Given the description of an element on the screen output the (x, y) to click on. 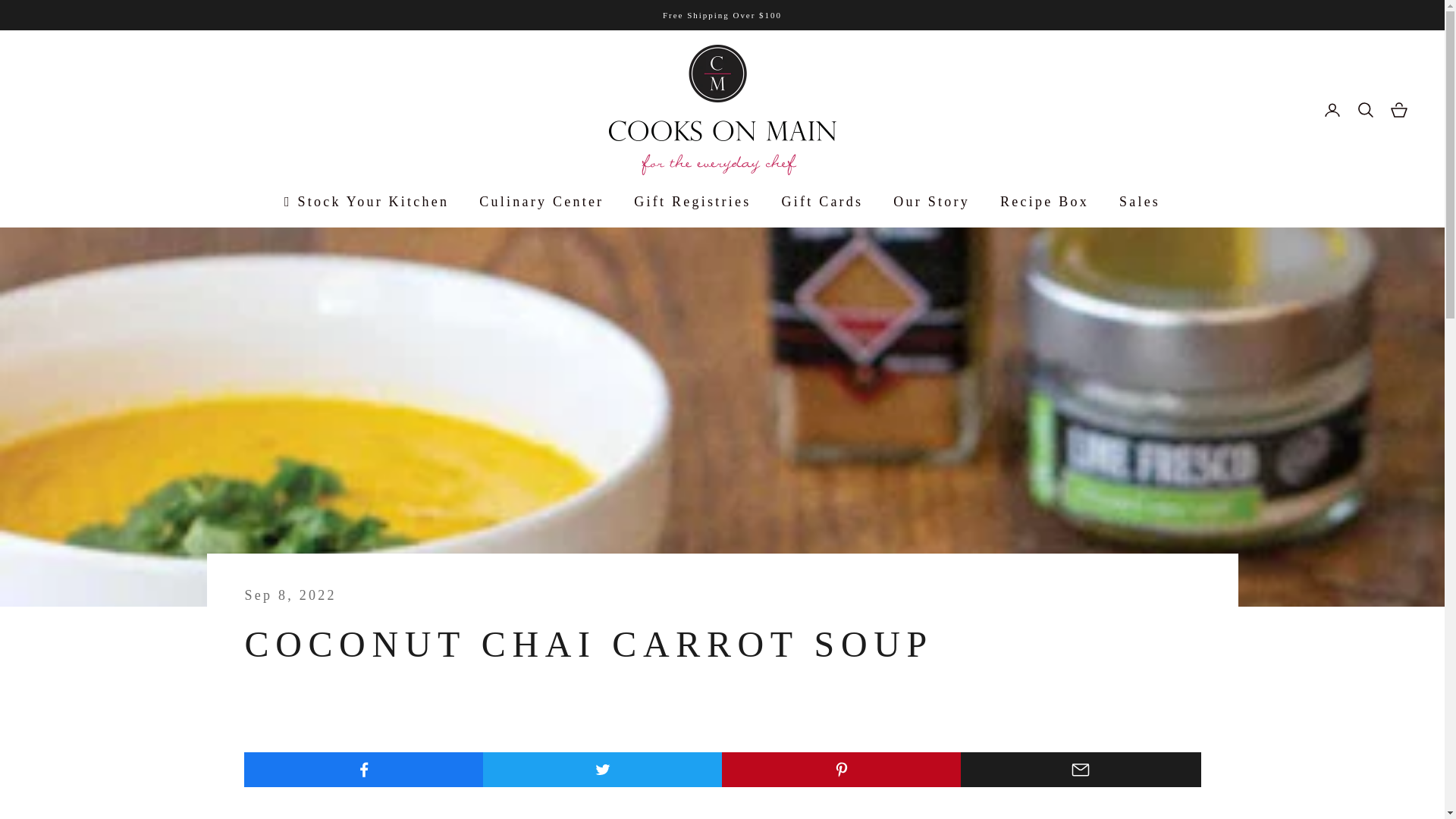
Cooks on Main (721, 110)
